Given the description of an element on the screen output the (x, y) to click on. 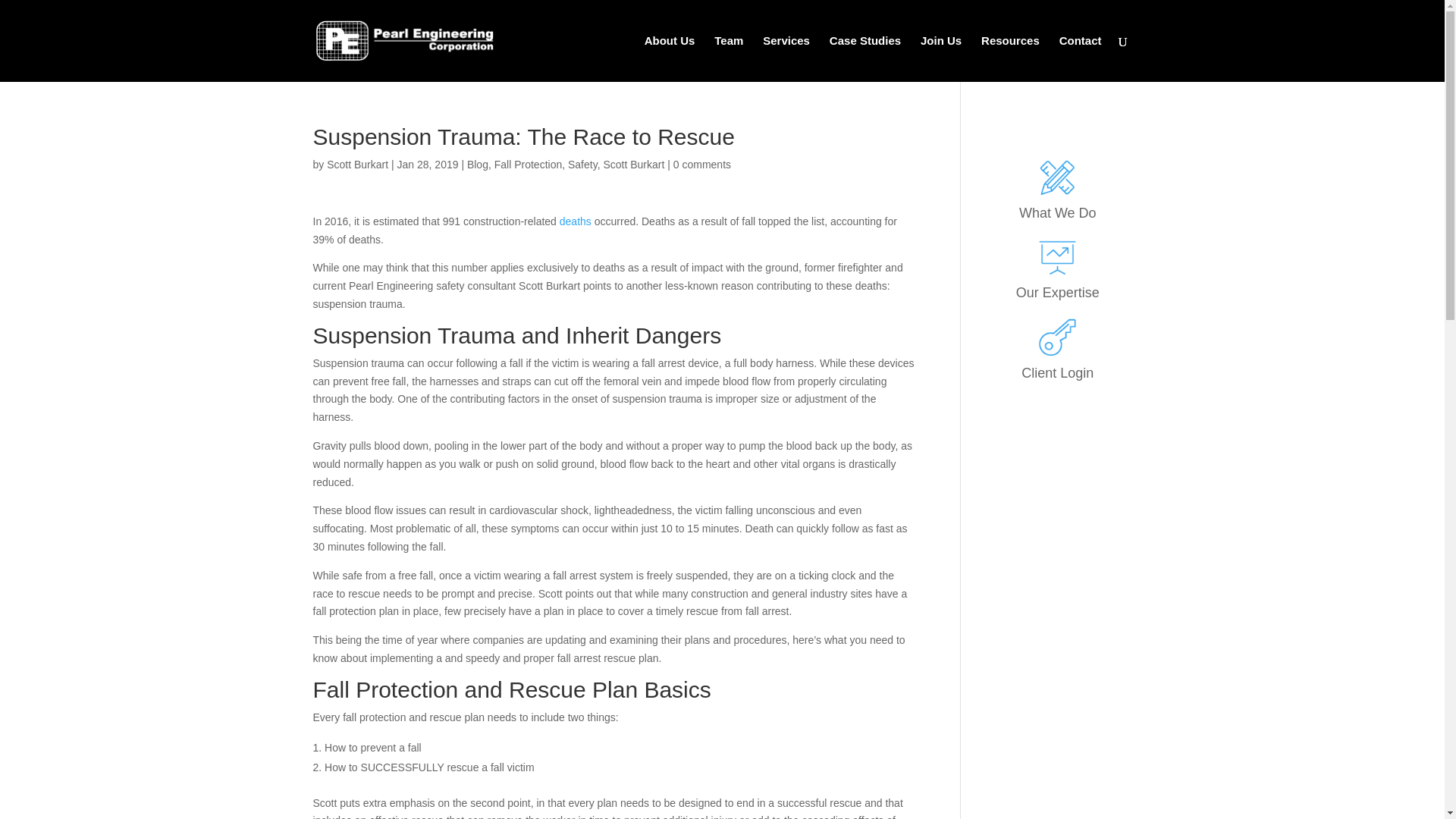
0 comments (701, 164)
Posts by Scott Burkart (357, 164)
Services (785, 58)
Case Studies (865, 58)
Client Login (1057, 372)
About Us (670, 58)
Our Expertise (1057, 292)
Resources (1010, 58)
Fall Protection (528, 164)
Scott Burkart (632, 164)
deaths (575, 221)
Scott Burkart (357, 164)
Safety (581, 164)
What We Do (1057, 212)
Contact (1080, 58)
